Given the description of an element on the screen output the (x, y) to click on. 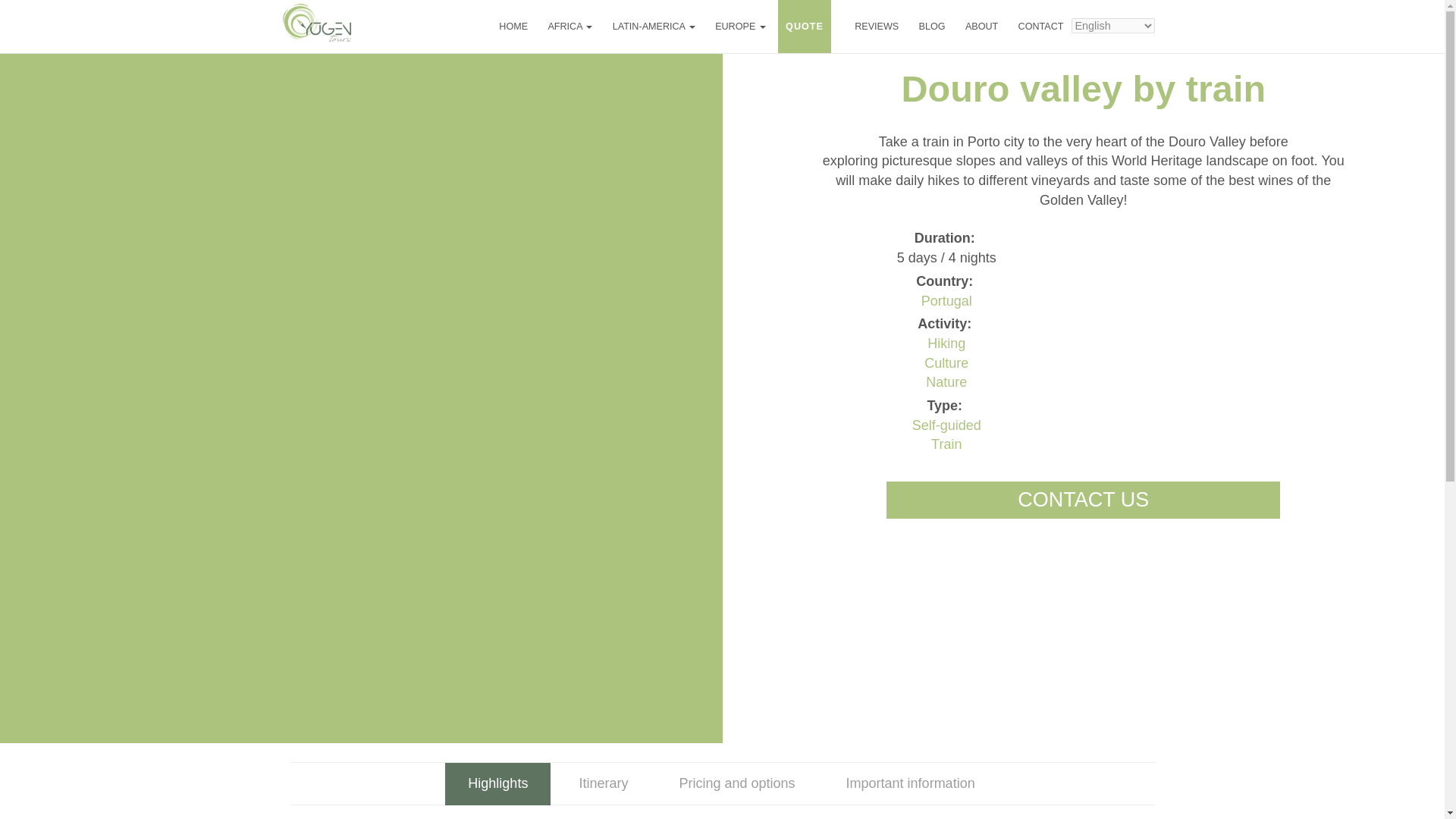
QUOTE (805, 26)
Self-guided (946, 425)
Pricing and options (736, 783)
Highlights (497, 783)
Train (945, 444)
CONTACT US (1083, 499)
Important information (910, 783)
Itinerary (603, 783)
BLOG (931, 26)
Culture (946, 363)
